Given the description of an element on the screen output the (x, y) to click on. 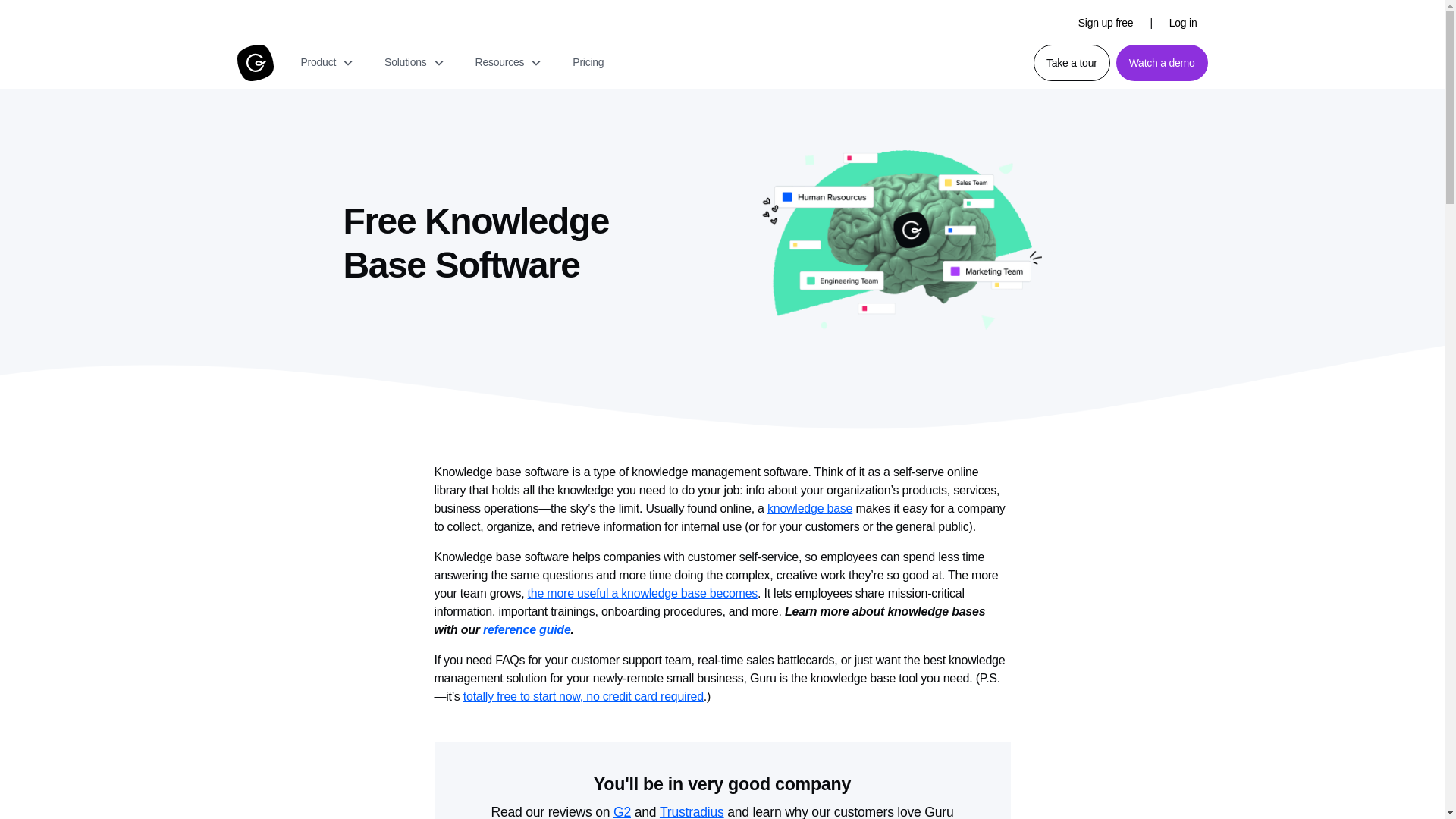
Pricing (587, 62)
Log in (1183, 22)
Sign up free (1105, 22)
